Given the description of an element on the screen output the (x, y) to click on. 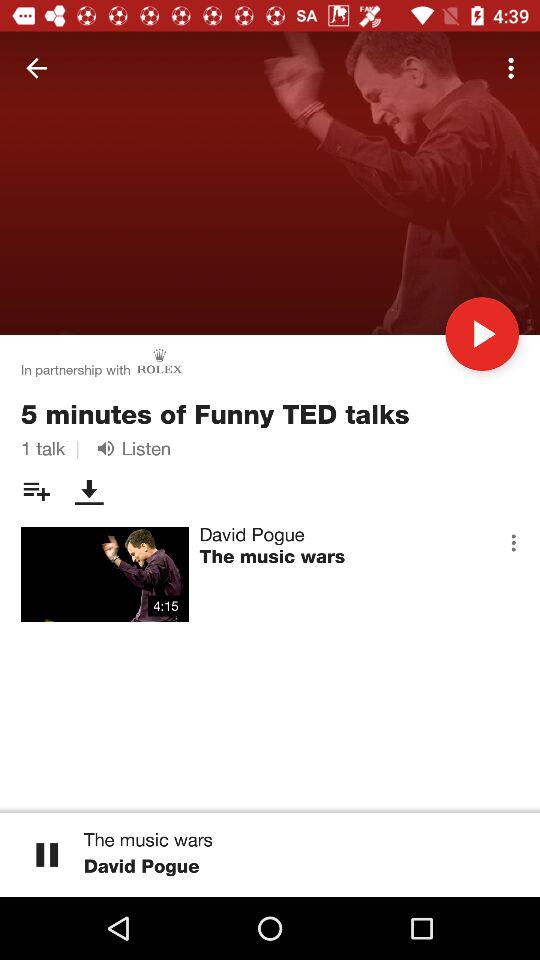
press the listen (130, 448)
